Given the description of an element on the screen output the (x, y) to click on. 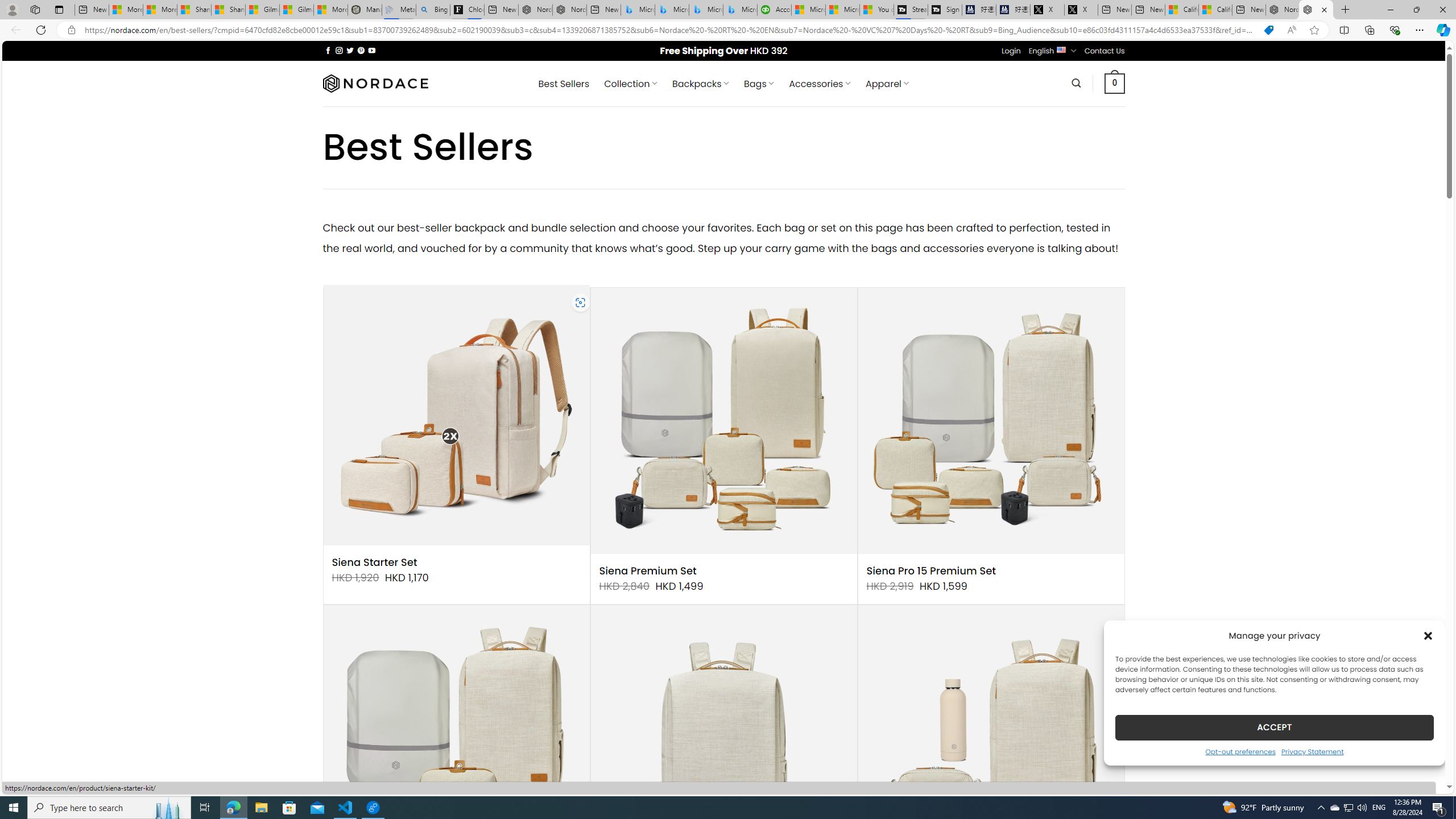
Opt-out preferences (1240, 750)
English (1061, 49)
Follow on Pinterest (360, 49)
 Best Sellers (563, 83)
Accounting Software for Accountants, CPAs and Bookkeepers (774, 9)
 0  (1115, 83)
Login (1010, 50)
